Given the description of an element on the screen output the (x, y) to click on. 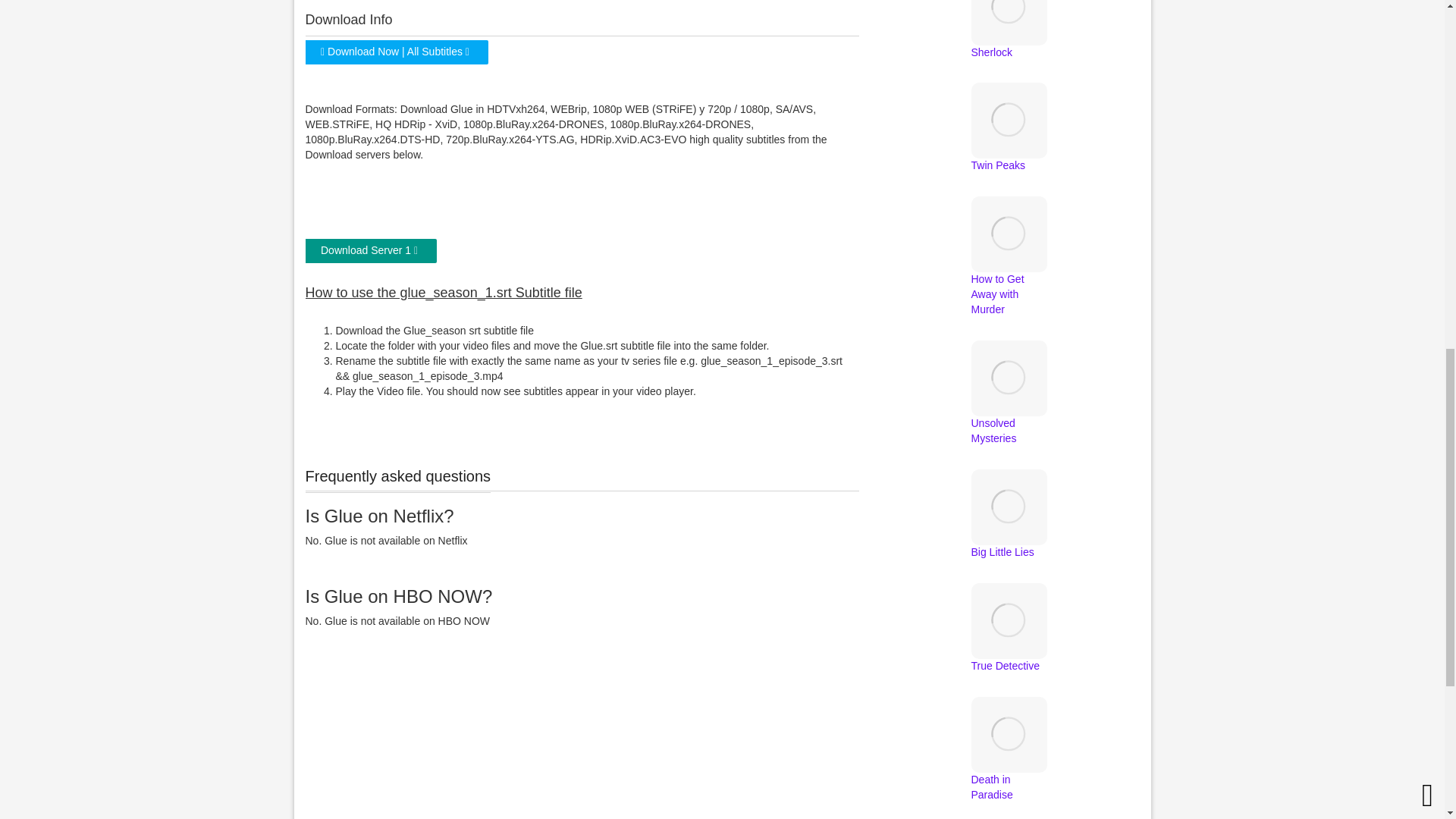
Sherlock (1008, 29)
True Detective (1008, 644)
Unsolved Mysteries (1008, 408)
Twin Peaks (1008, 143)
Big Little Lies (1008, 530)
Death in Paradise (1008, 765)
Download Server 1 (368, 250)
